Given the description of an element on the screen output the (x, y) to click on. 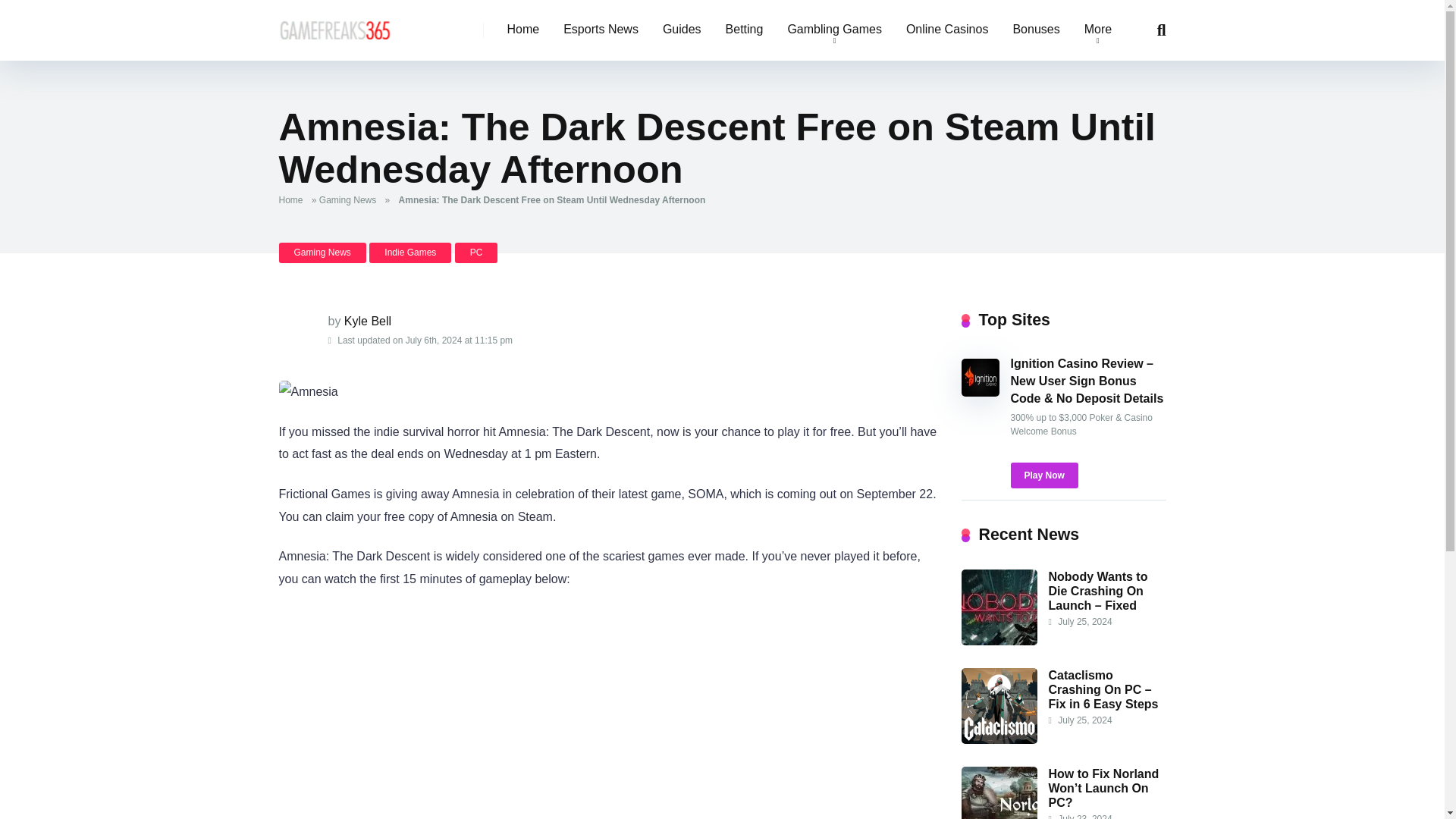
Indie Games (410, 252)
PC (475, 252)
Online Casinos (947, 30)
Game Freaks 365 (335, 24)
Gambling Games (833, 30)
Guides (681, 30)
Kyle Bell (367, 320)
Home (523, 30)
Play Now (1043, 475)
Gaming News (349, 199)
Esports News (600, 30)
Betting (744, 30)
Play Now (1043, 475)
Posts by Kyle Bell (367, 320)
Bonuses (1035, 30)
